Given the description of an element on the screen output the (x, y) to click on. 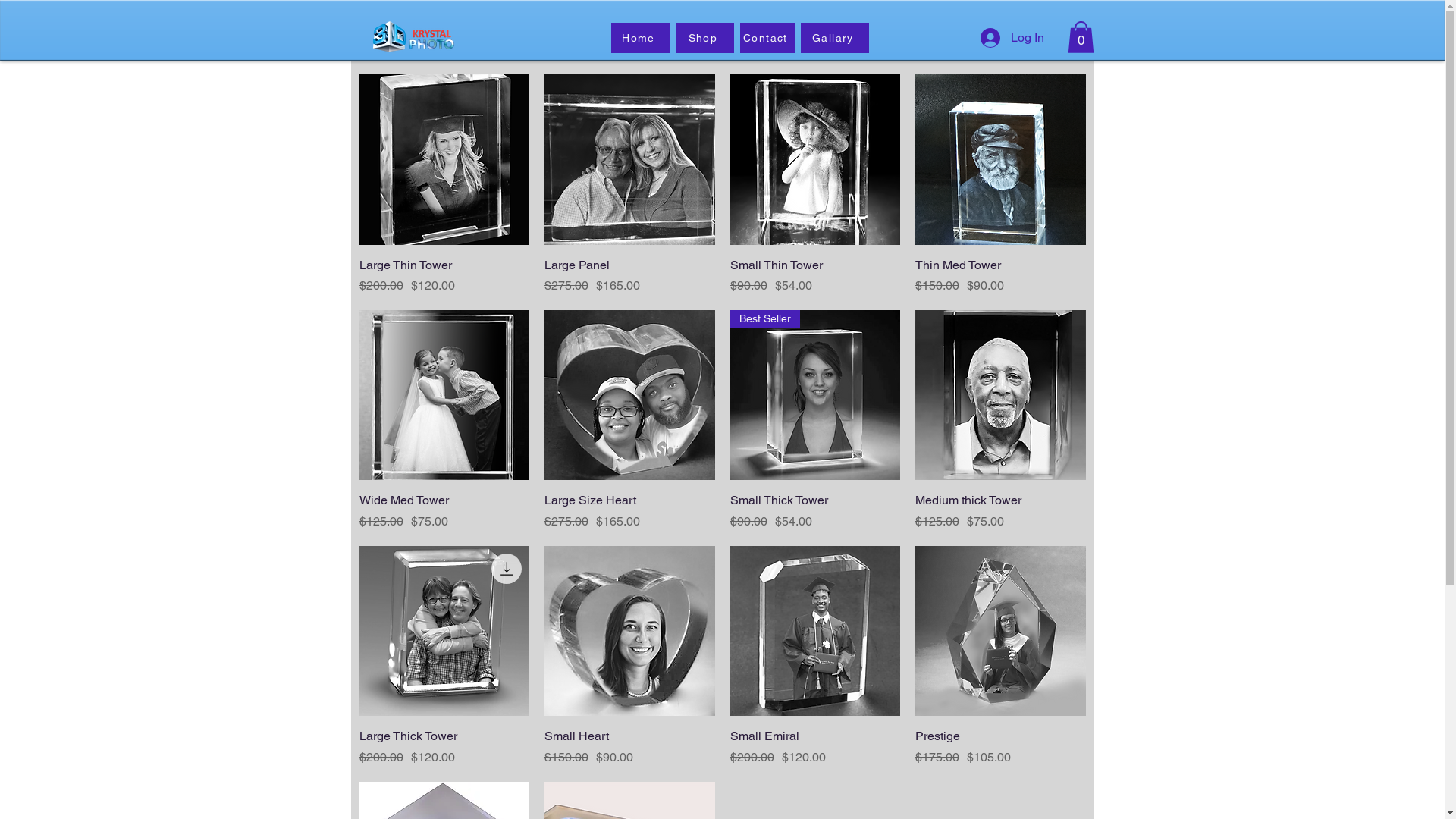
Shop Element type: text (703, 37)
Home Element type: text (640, 37)
Large Panel
Regular Price
$275.00
Sale Price
$165.00 Element type: text (629, 275)
Small Emiral
Regular Price
$200.00
Sale Price
$120.00 Element type: text (814, 746)
Log In Element type: text (1011, 37)
Best Seller Element type: text (814, 395)
Large Thin Tower
Regular Price
$200.00
Sale Price
$120.00 Element type: text (444, 275)
Contact Element type: text (767, 37)
Medium thick Tower
Regular Price
$125.00
Sale Price
$75.00 Element type: text (1000, 511)
Thin Med Tower
Regular Price
$150.00
Sale Price
$90.00 Element type: text (1000, 275)
Small Thin Tower
Regular Price
$90.00
Sale Price
$54.00 Element type: text (814, 275)
Gallary Element type: text (834, 37)
0 Element type: text (1080, 37)
Small Heart
Regular Price
$150.00
Sale Price
$90.00 Element type: text (629, 746)
Small Thick Tower
Regular Price
$90.00
Sale Price
$54.00 Element type: text (814, 511)
Large Thick Tower
Regular Price
$200.00
Sale Price
$120.00 Element type: text (444, 746)
Prestige
Regular Price
$175.00
Sale Price
$105.00 Element type: text (1000, 746)
3D Logo-1.png Element type: hover (410, 36)
Large Size Heart
Regular Price
$275.00
Sale Price
$165.00 Element type: text (629, 511)
Wide Med Tower
Regular Price
$125.00
Sale Price
$75.00 Element type: text (444, 511)
